Given the description of an element on the screen output the (x, y) to click on. 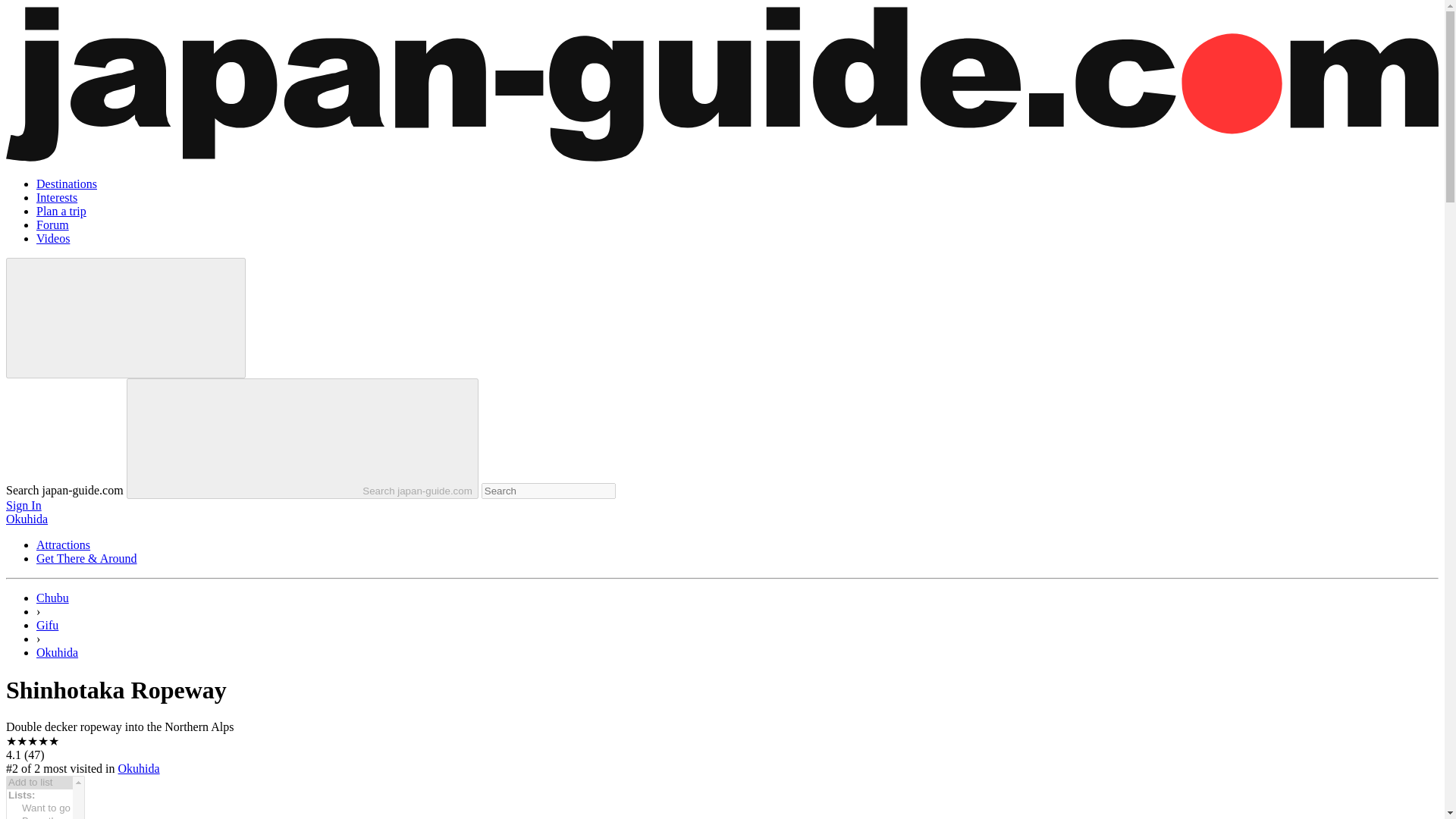
Interests (56, 196)
Gifu (47, 625)
Search japan-guide.com (302, 438)
Forum (52, 224)
Attractions (63, 544)
Okuhida (138, 768)
Okuhida (26, 518)
Okuhida (57, 652)
Plan a trip (60, 210)
Videos (52, 237)
Sign In (23, 504)
Destinations (66, 183)
Chubu (52, 597)
